Given the description of an element on the screen output the (x, y) to click on. 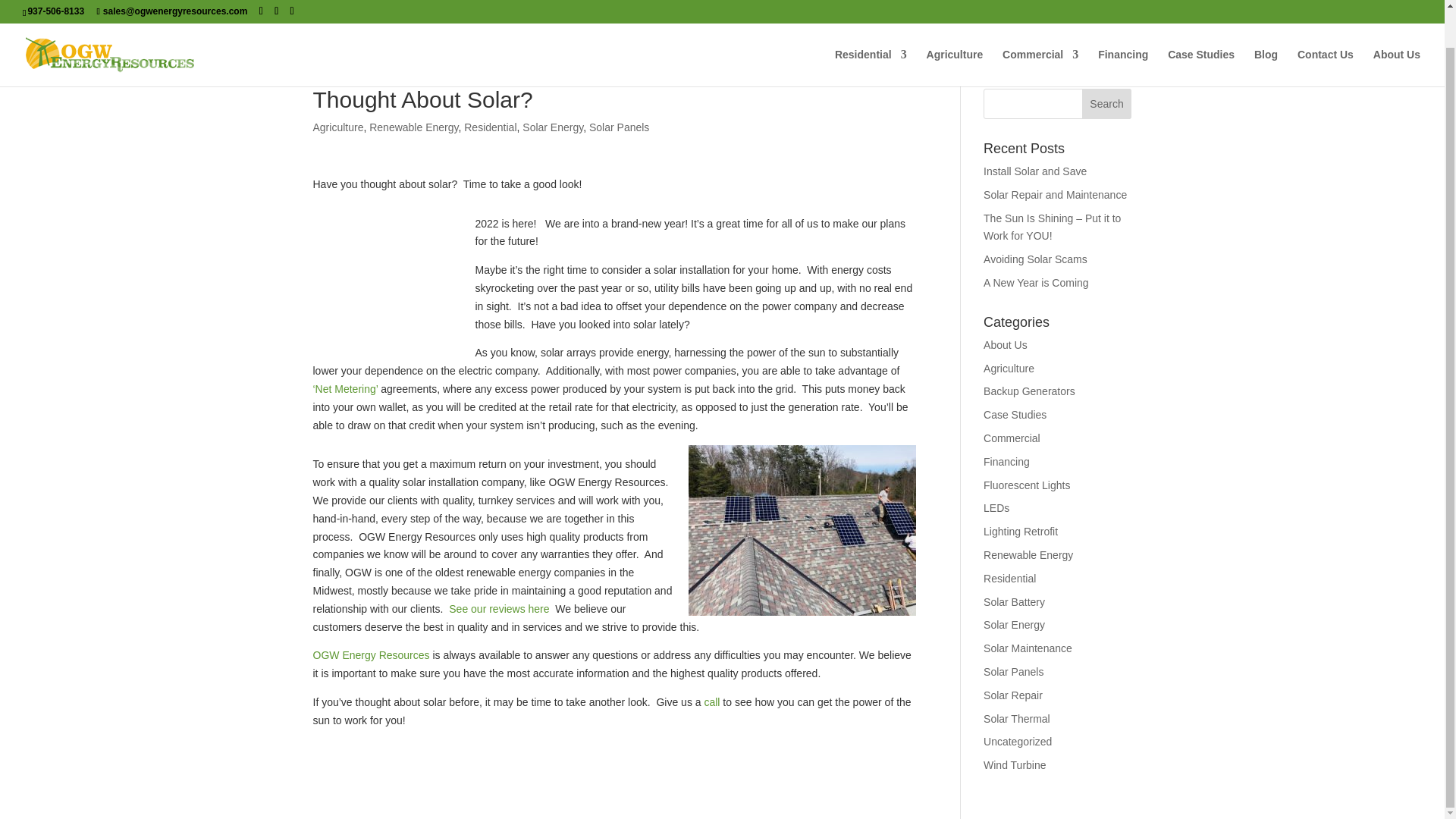
Solar Panels (619, 127)
Residential (490, 127)
See our reviews here  (499, 608)
Search (1106, 103)
Agriculture (955, 27)
Financing (1122, 27)
Solar Energy (552, 127)
Install Solar and Save (1035, 171)
Commercial (1040, 27)
Search (1106, 103)
